Given the description of an element on the screen output the (x, y) to click on. 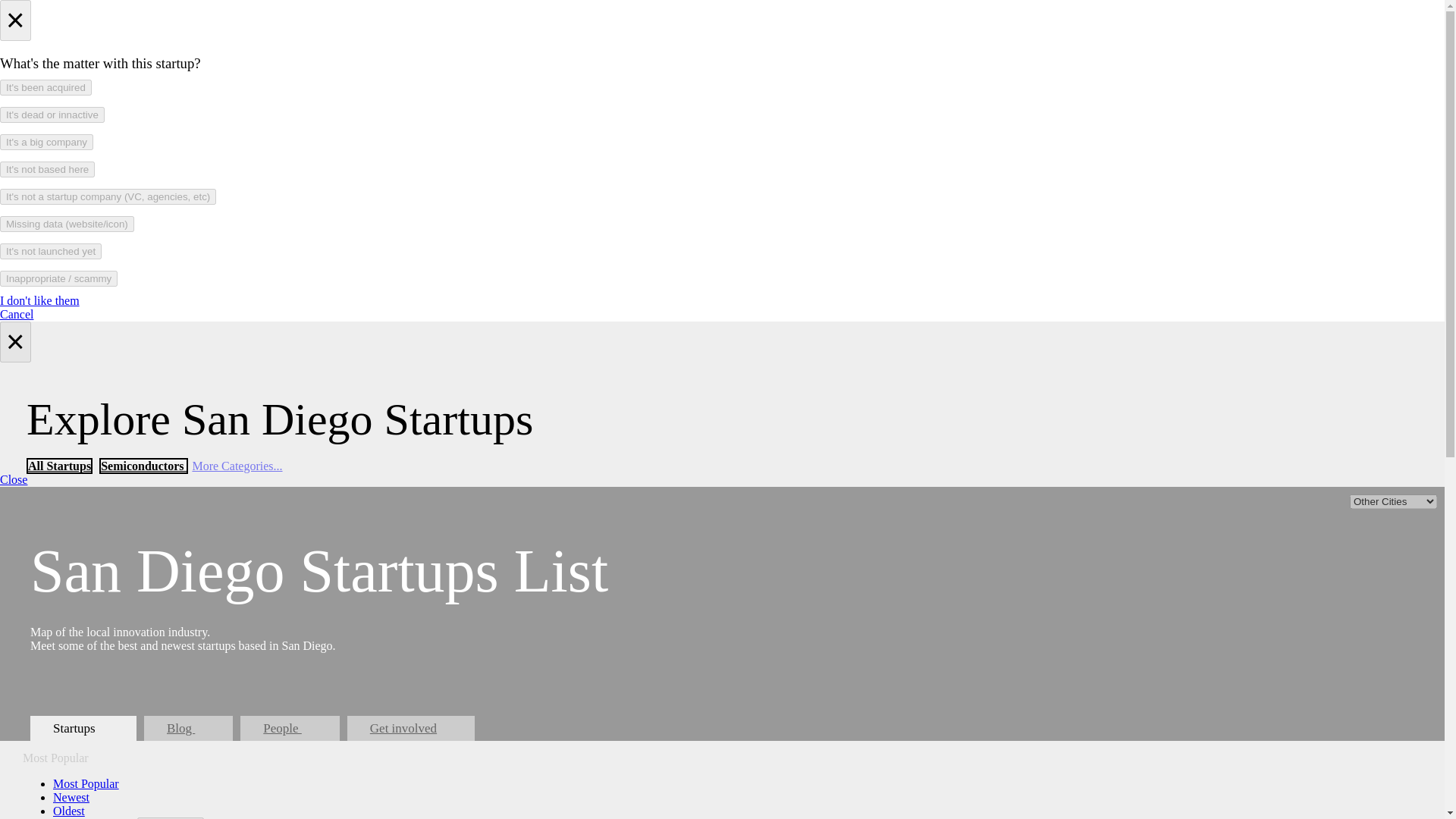
Close (13, 479)
More Categories... (237, 465)
It's been acquired (45, 87)
It's a big company (46, 141)
It's not based here (47, 169)
It's not launched yet (50, 251)
Semiconductors (143, 465)
All Startups (59, 465)
Cancel (16, 314)
It's dead or innactive (52, 114)
